Given the description of an element on the screen output the (x, y) to click on. 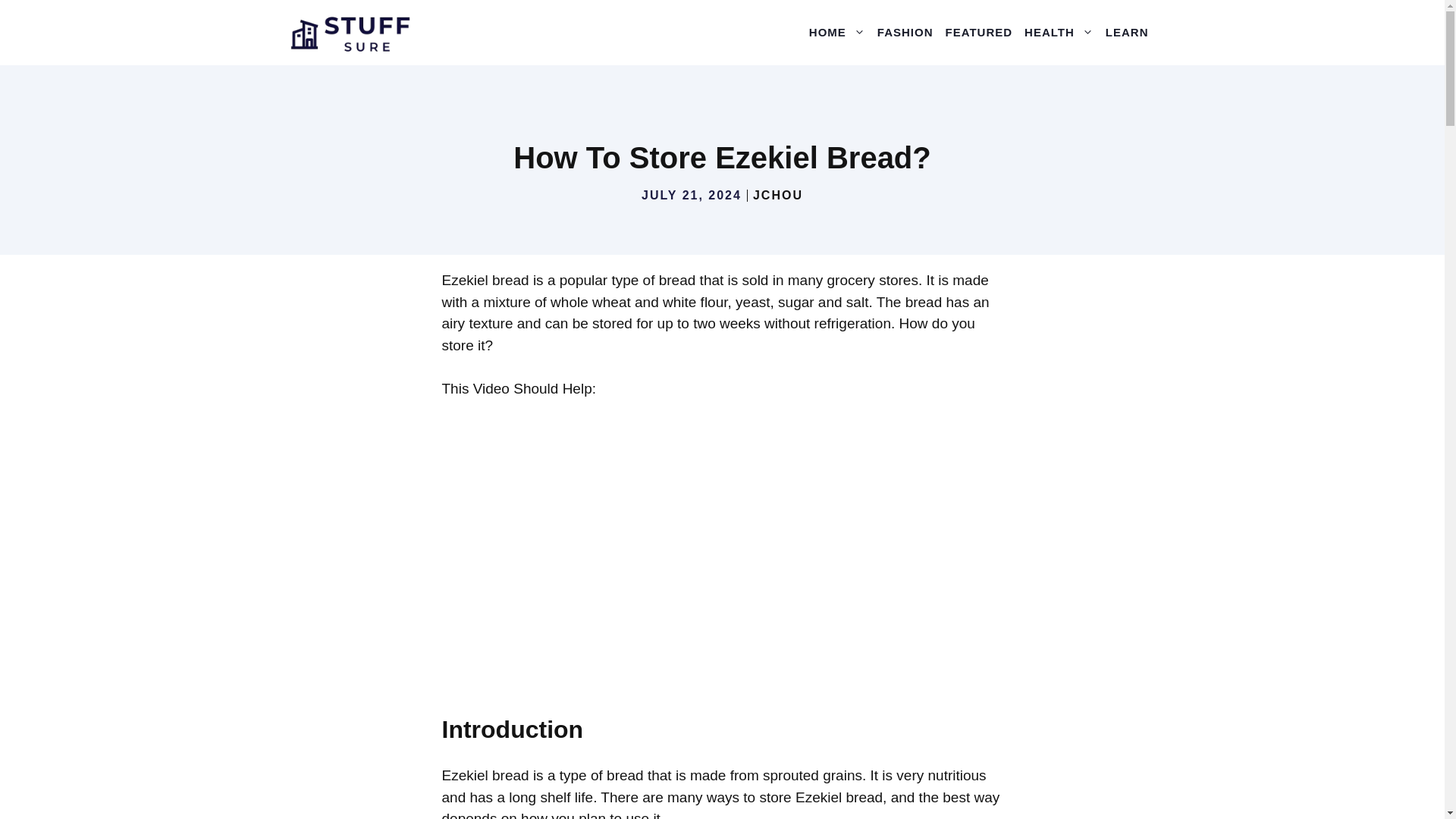
FASHION (904, 32)
HEALTH (1058, 32)
HOME (836, 32)
LEARN (1126, 32)
FEATURED (979, 32)
